Given the description of an element on the screen output the (x, y) to click on. 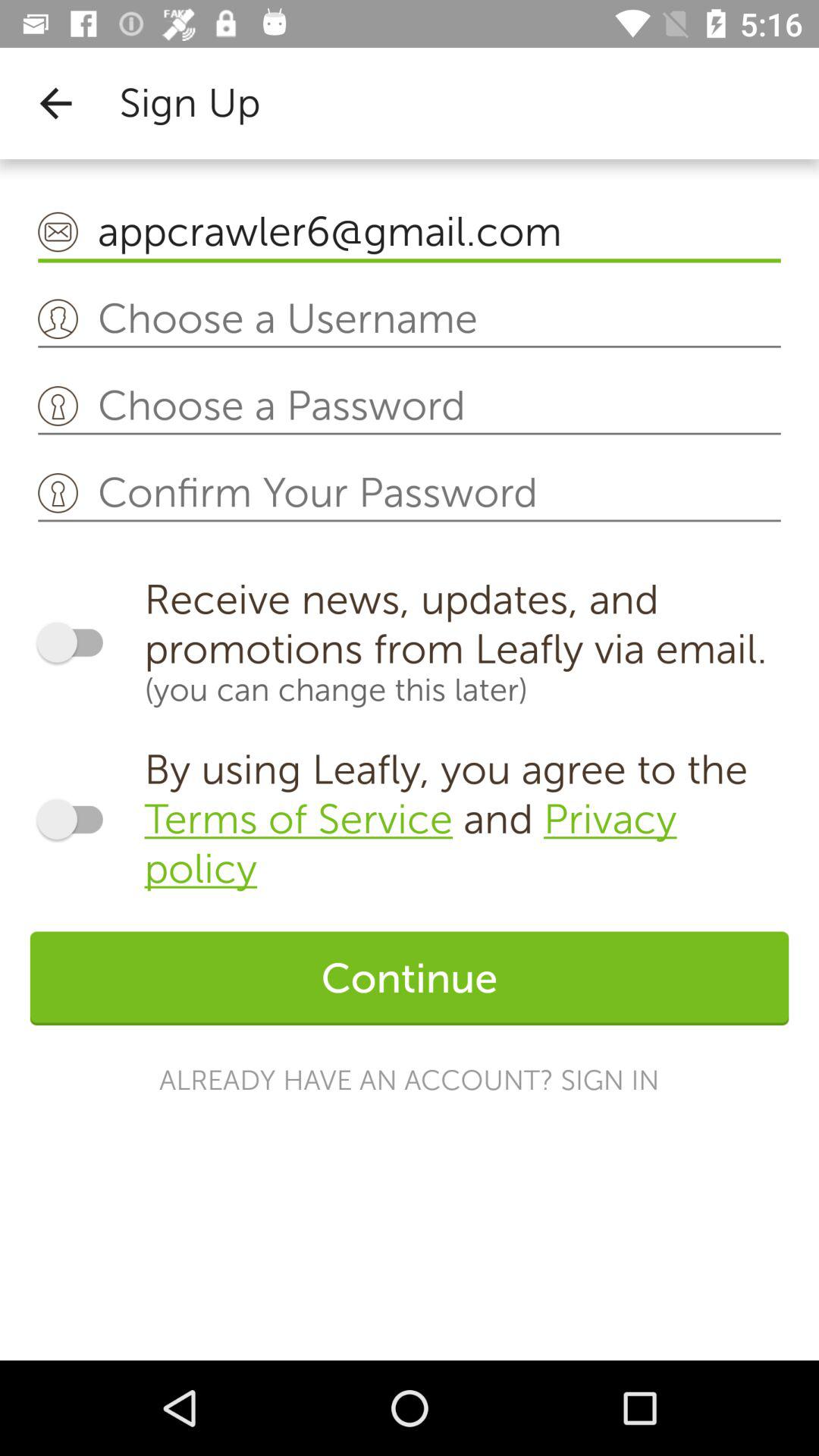
select the item next to sign up icon (55, 103)
